Given the description of an element on the screen output the (x, y) to click on. 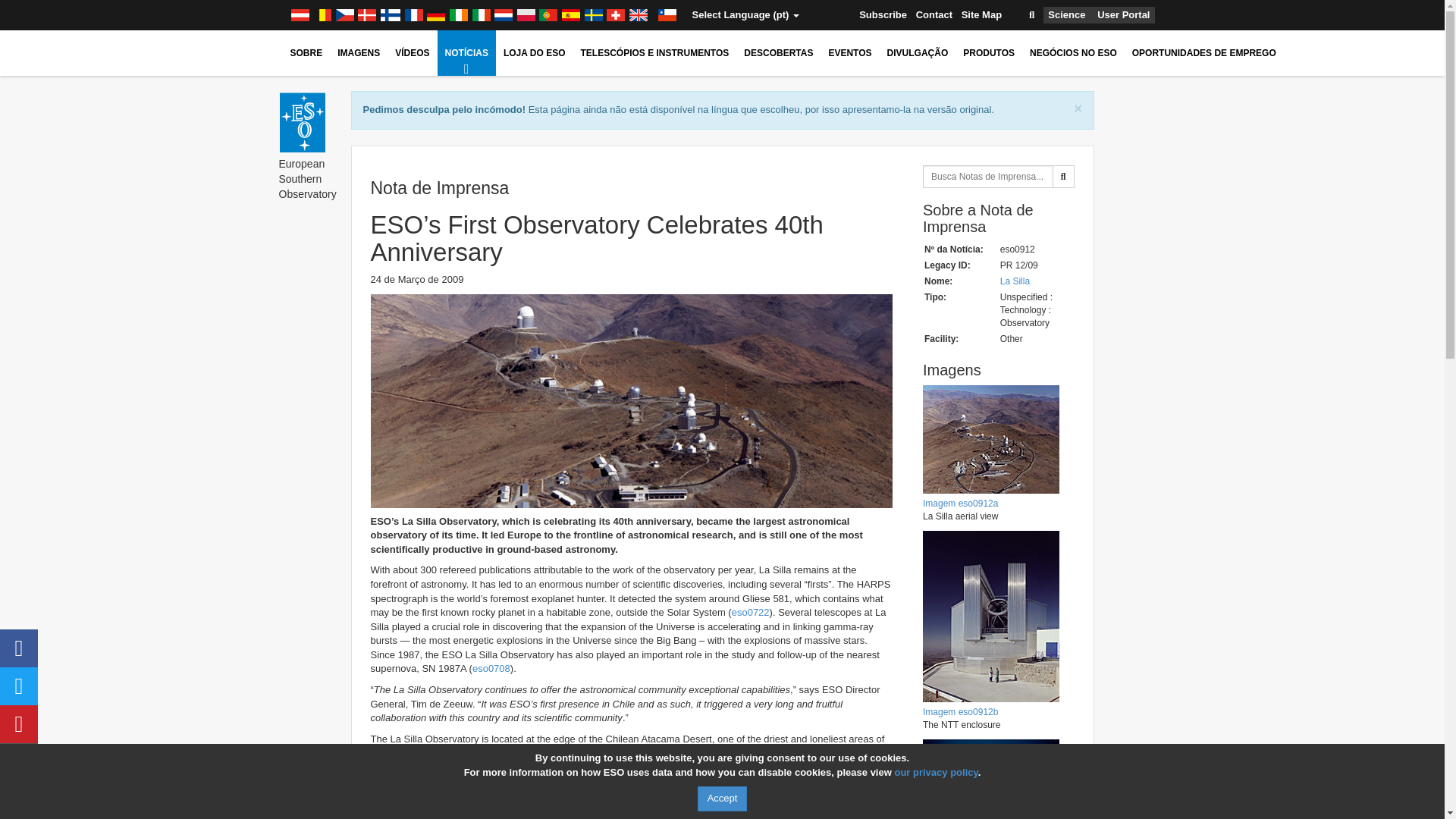
Subscribe (883, 15)
Netherlands (503, 15)
Accept (722, 798)
Italy (481, 15)
Ireland (458, 15)
Germany (435, 15)
Portugal (547, 15)
Poland (525, 15)
Science (1066, 14)
our privacy policy (934, 772)
SOBRE (306, 53)
Denmark (366, 15)
User Portal (1123, 14)
Contact (933, 15)
Spain (570, 15)
